Given the description of an element on the screen output the (x, y) to click on. 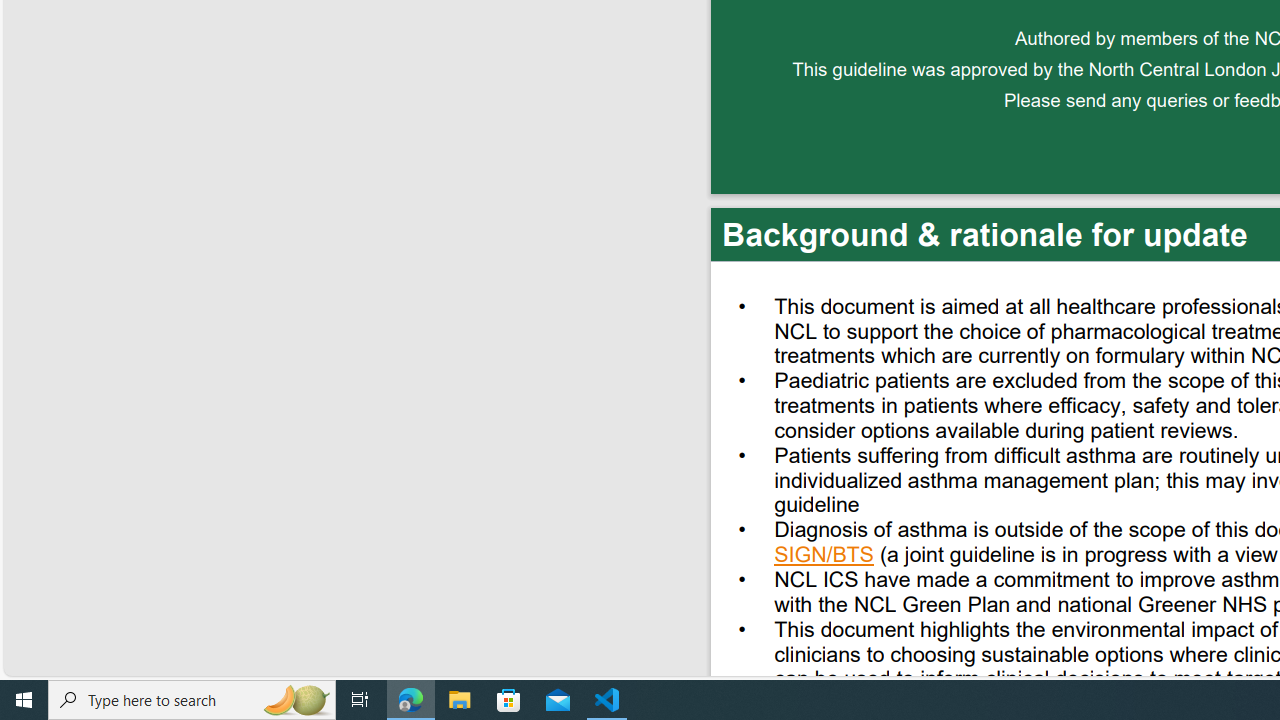
SIGN/BTS (824, 557)
